Given the description of an element on the screen output the (x, y) to click on. 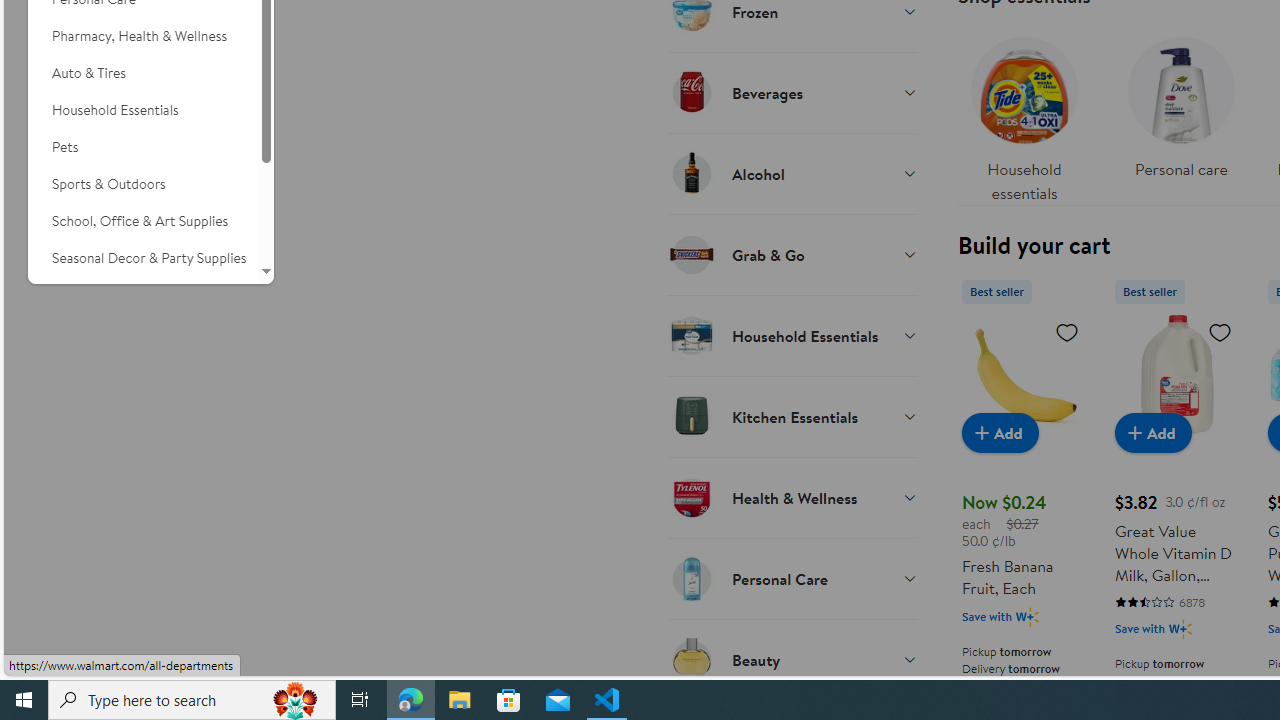
Household essentials (1023, 114)
Beauty (792, 659)
Fresh Banana Fruit, Each (1024, 374)
Pets (143, 147)
Personal Care (792, 578)
Beverages (792, 92)
Sports & Outdoors (143, 184)
Auto & Tires (143, 73)
